Given the description of an element on the screen output the (x, y) to click on. 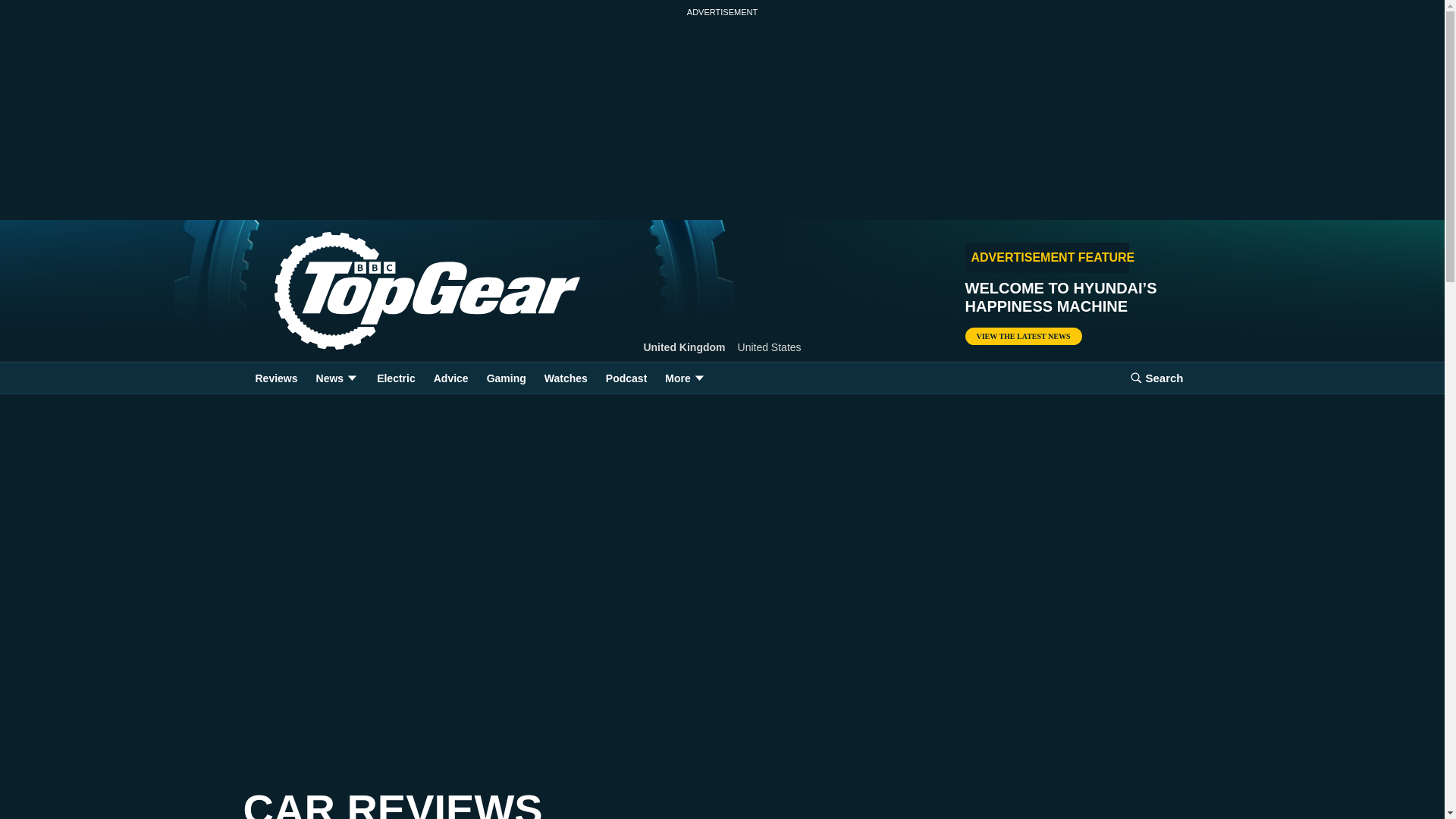
Home (401, 290)
United Kingdom (684, 347)
Podcast (625, 377)
United States (770, 347)
Electric (396, 377)
Search (1156, 377)
Watches (566, 377)
Gaming (506, 377)
More (685, 377)
Reviews (275, 377)
Advice (451, 377)
News (337, 377)
Search (1156, 377)
VIEW THE LATEST NEWS (1022, 335)
